Given the description of an element on the screen output the (x, y) to click on. 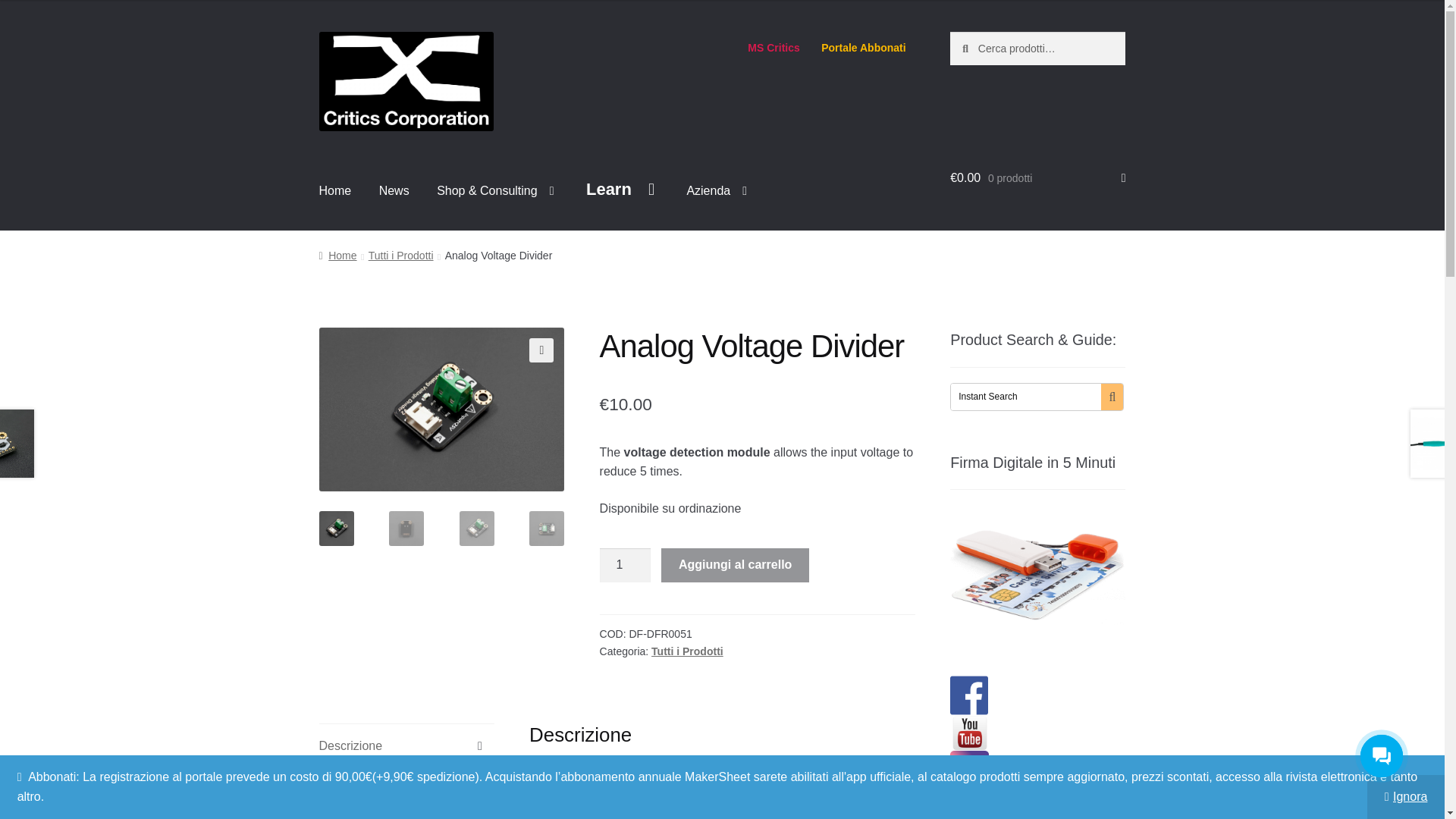
Instant Search (1025, 397)
Home (335, 190)
Learn (620, 189)
Portale Abbonati (863, 47)
MS Critics (773, 47)
Guarda il tuo carrello degli acquisti (1037, 178)
Azienda (716, 190)
Instant Search (1025, 397)
News (394, 190)
1 (624, 564)
AnalogVoltageDivider (441, 409)
AnalogVoltageDividerDietro (686, 409)
